Given the description of an element on the screen output the (x, y) to click on. 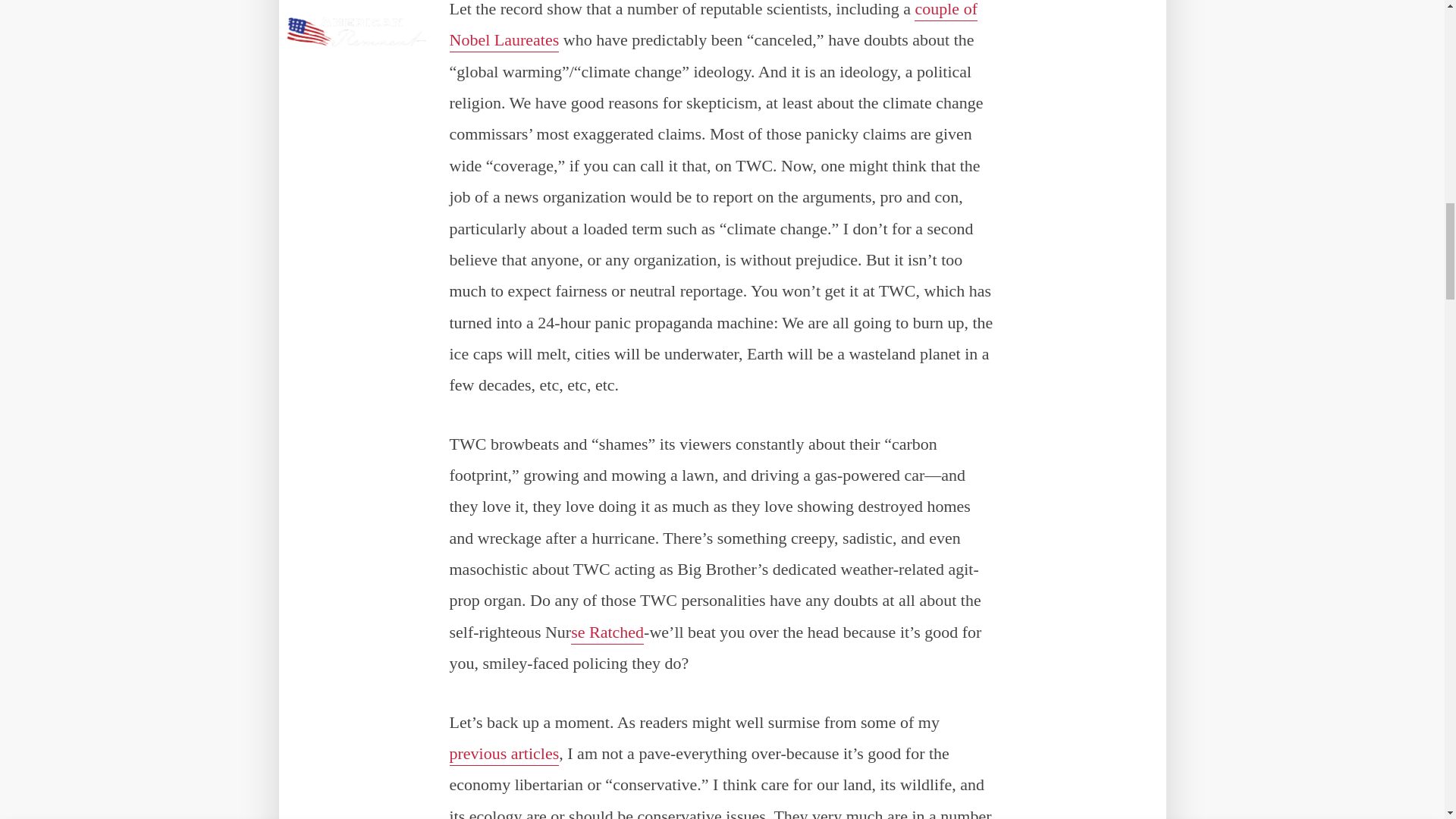
couple of Nobel Laureates (712, 26)
se Ratched (606, 633)
previous articles (503, 754)
